Given the description of an element on the screen output the (x, y) to click on. 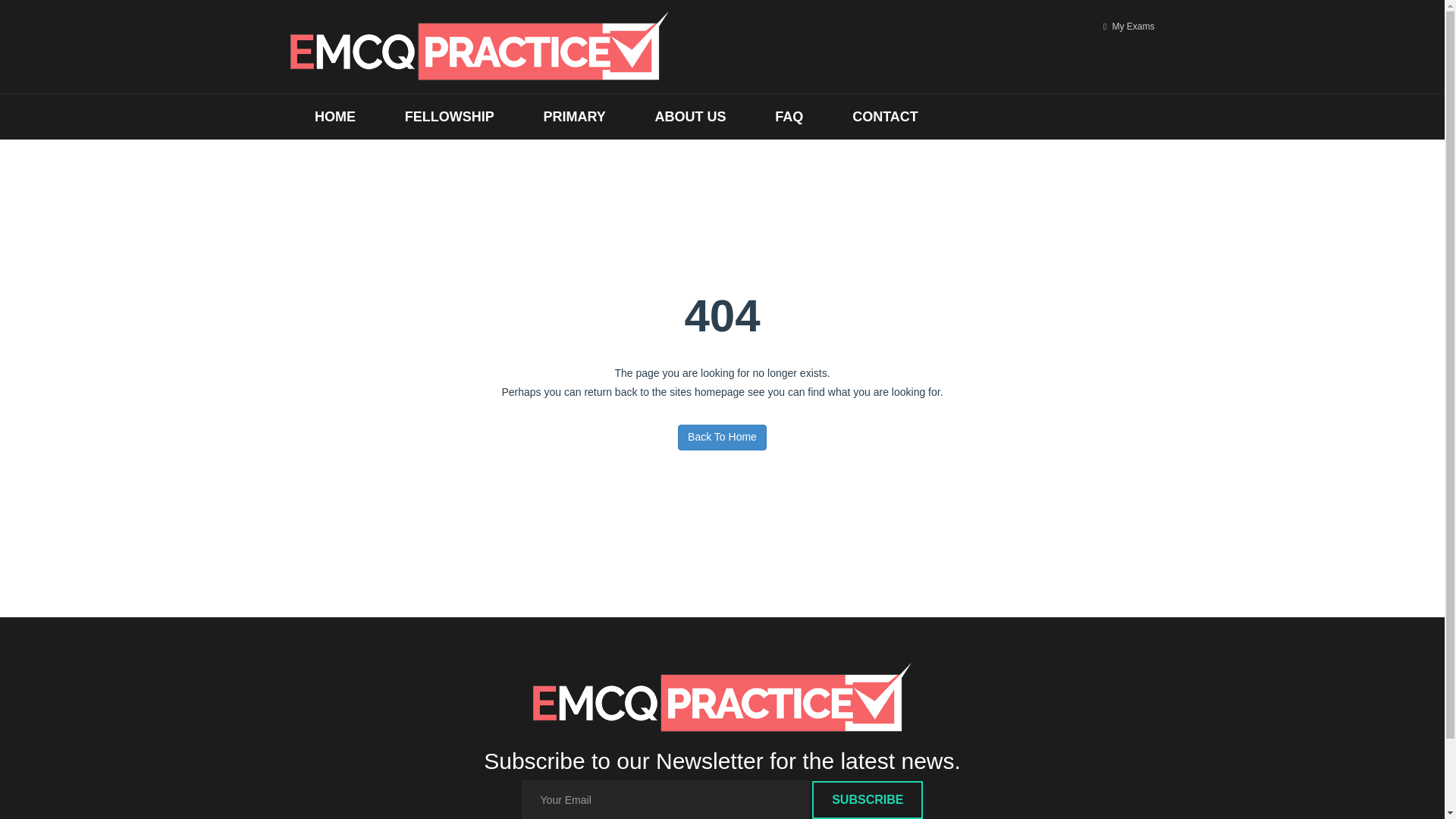
HOME (334, 116)
PRIMARY (574, 116)
Back To Home (722, 437)
My Exams (1128, 26)
ABOUT US (690, 116)
FELLOWSHIP (449, 116)
Subscribe (867, 800)
My Exams (1128, 26)
Subscribe (867, 800)
CONTACT (885, 116)
